Given the description of an element on the screen output the (x, y) to click on. 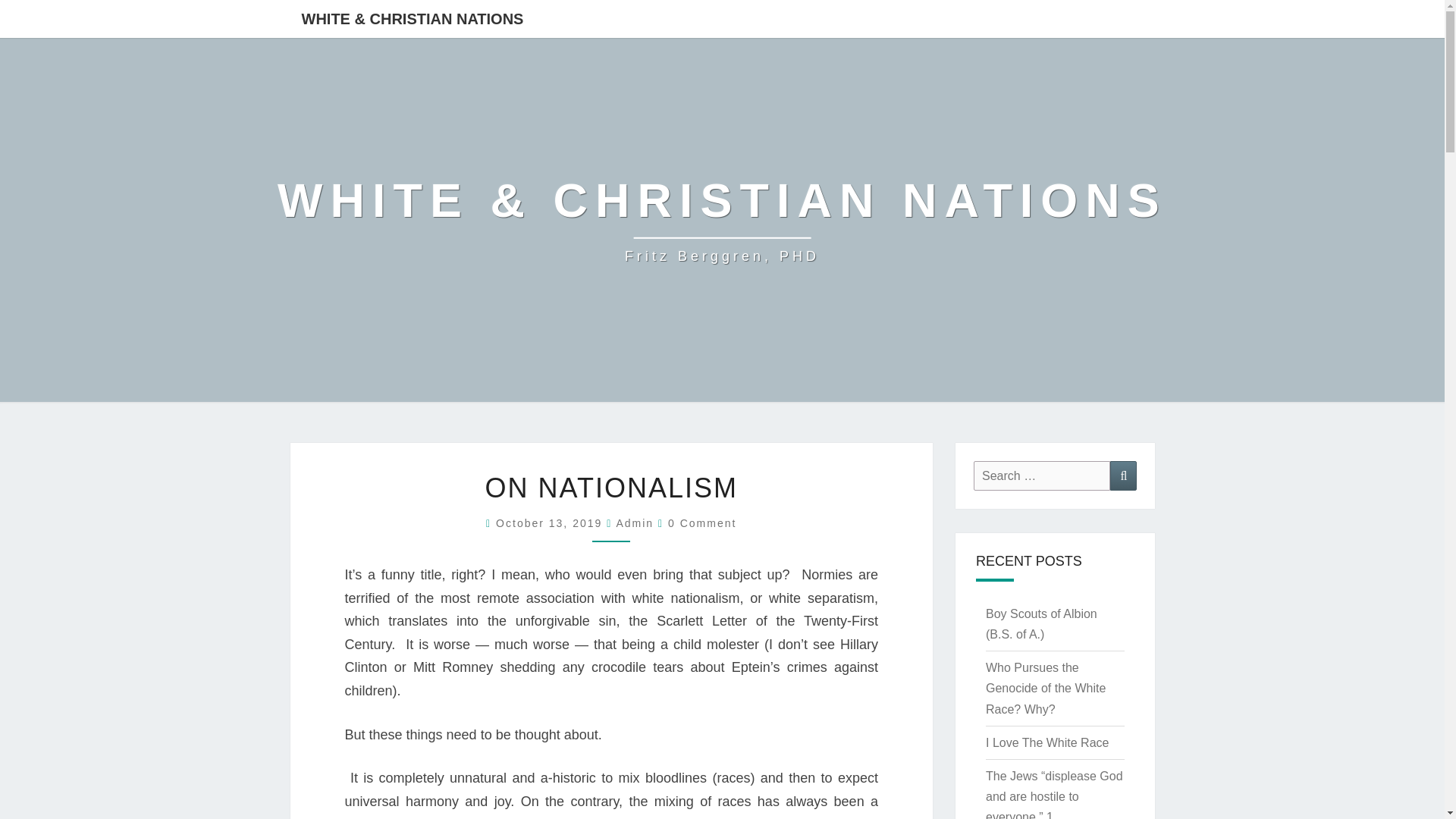
Search for: (1041, 475)
0 Comment (702, 522)
I Love The White Race (1046, 742)
Search (1123, 475)
View all posts by admin (634, 522)
October 13, 2019 (551, 522)
7:22 am (551, 522)
Who Pursues the Genocide of the White Race? Why? (1045, 687)
Admin (634, 522)
